Given the description of an element on the screen output the (x, y) to click on. 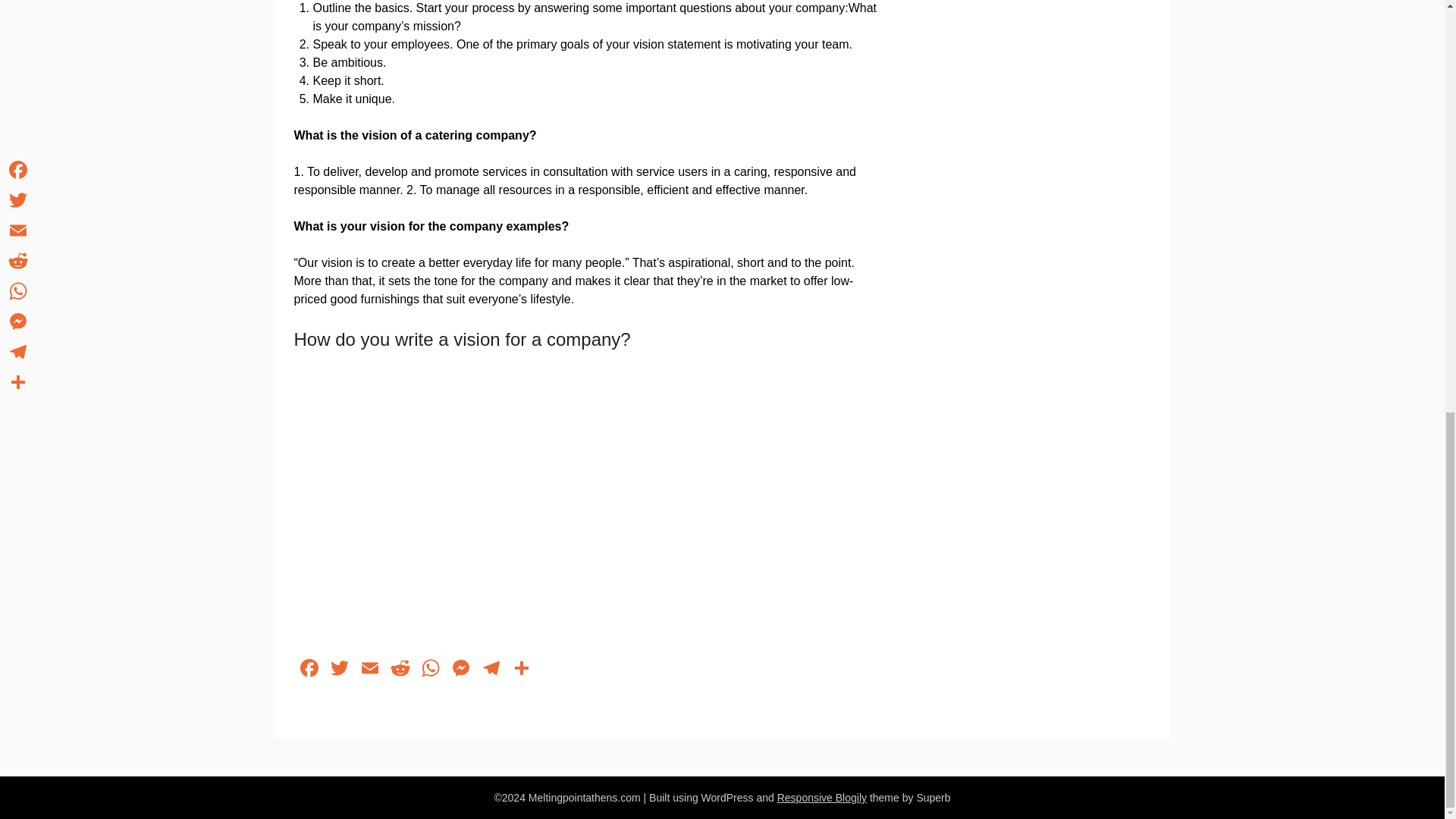
Facebook (309, 669)
Telegram (491, 669)
Email (370, 669)
WhatsApp (429, 669)
Reddit (399, 669)
Arthur Potts Dawson: A vision for sustainable restaurants (536, 500)
Responsive Blogily (821, 797)
Twitter (339, 669)
Email (370, 669)
Messenger (460, 669)
